Given the description of an element on the screen output the (x, y) to click on. 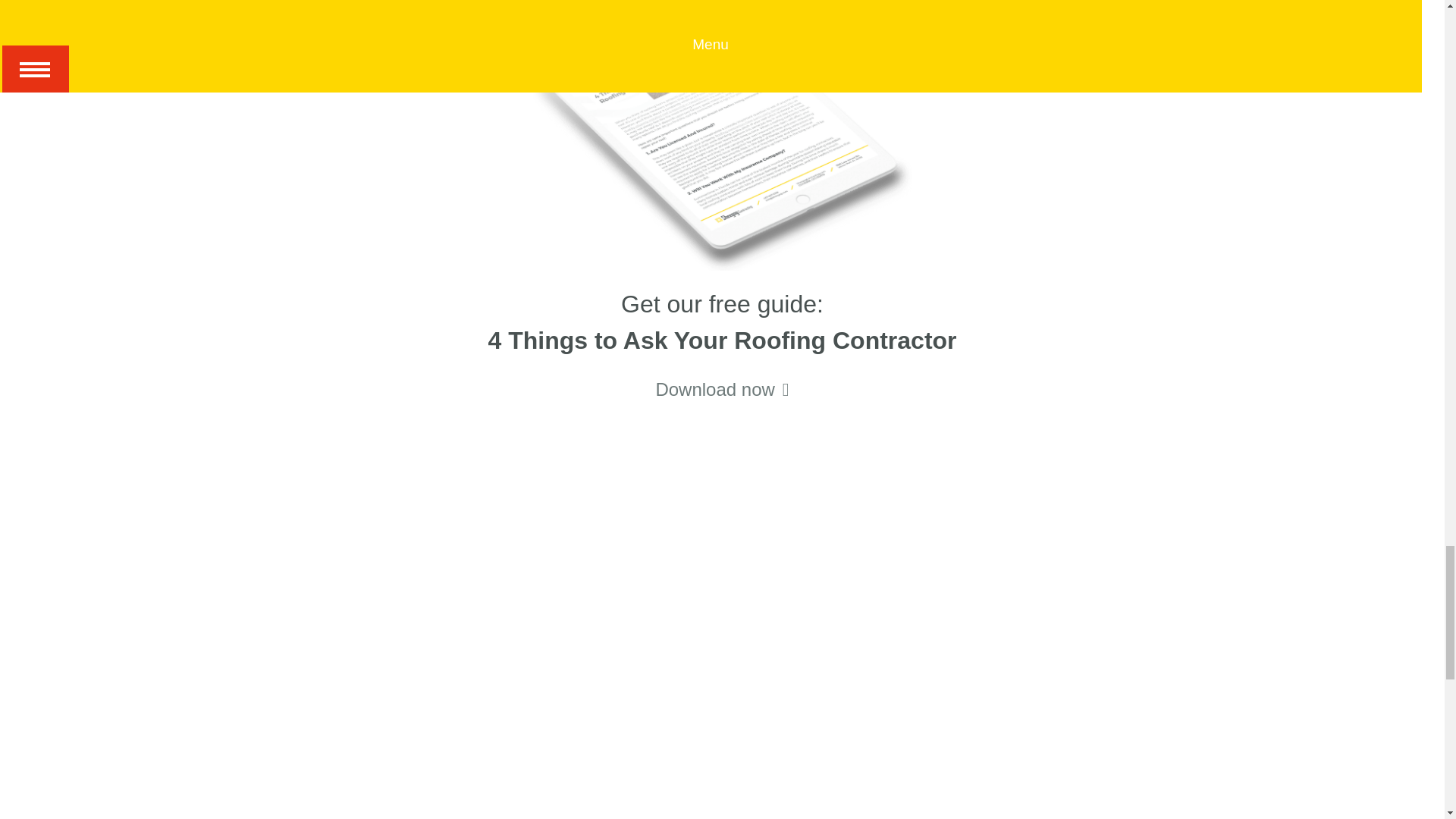
Download now (722, 389)
